Given the description of an element on the screen output the (x, y) to click on. 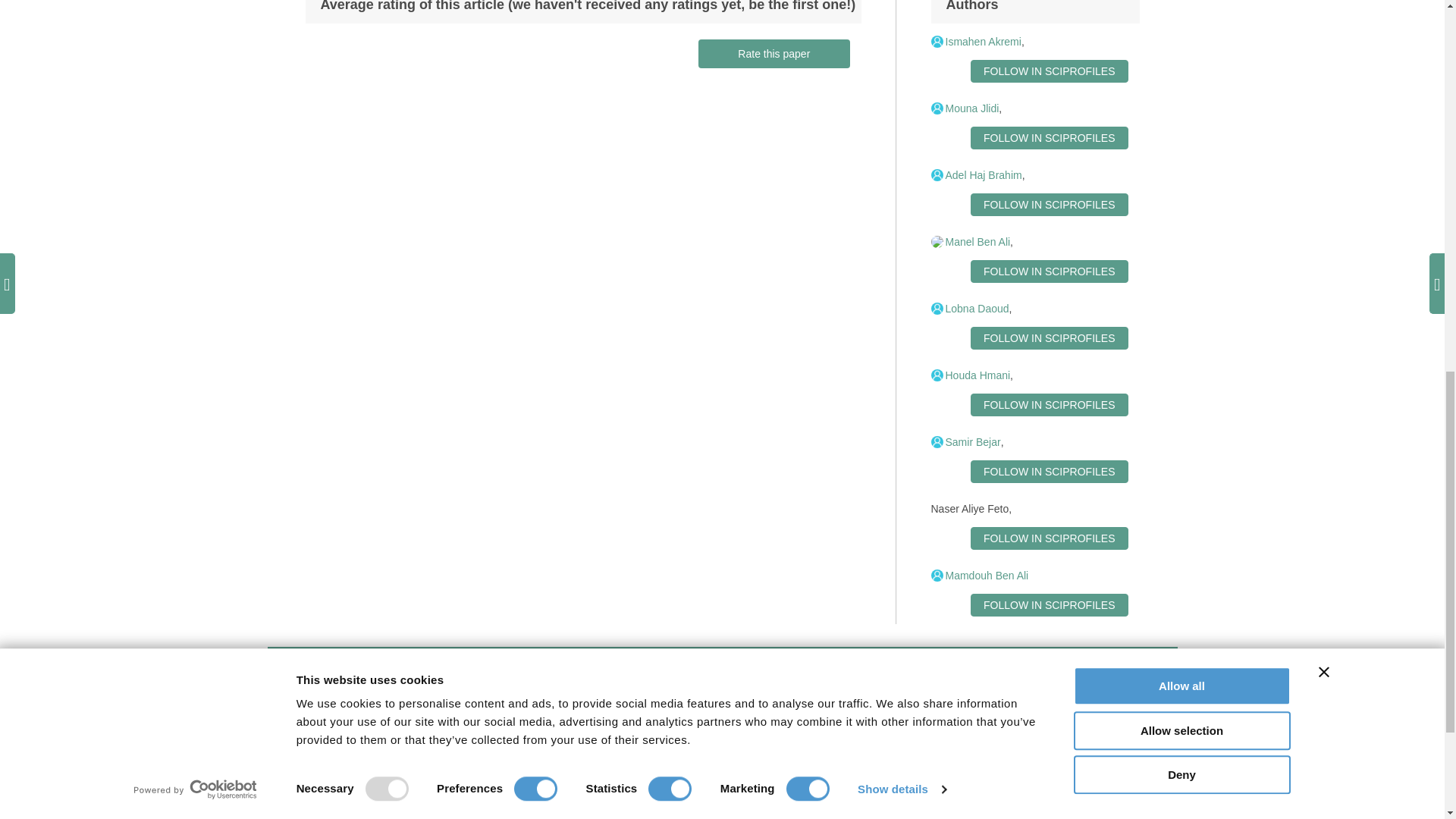
First name (375, 736)
Sign Up Free (1075, 733)
